Given the description of an element on the screen output the (x, y) to click on. 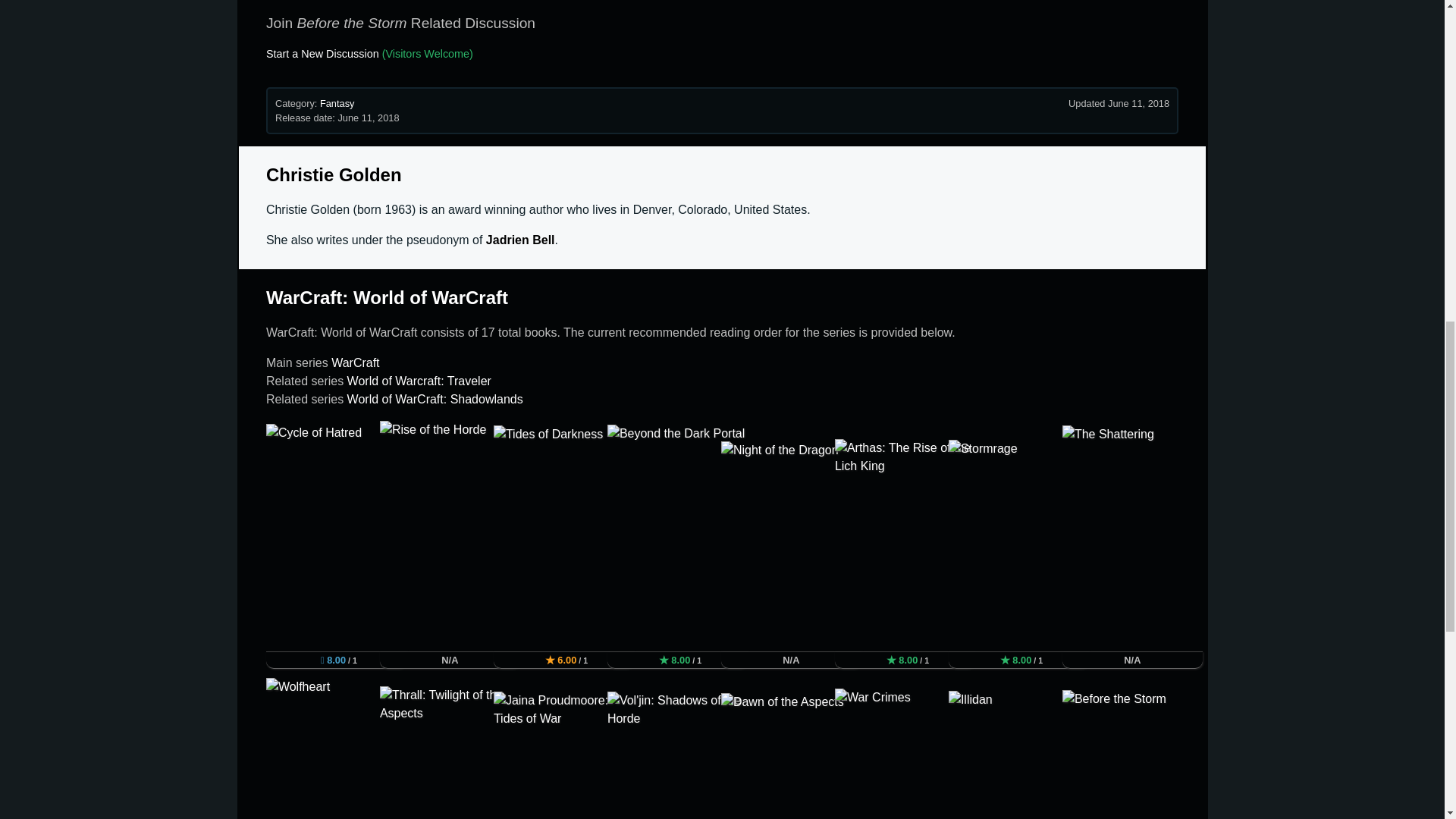
Wolfheart by Richard A. Knaak (336, 748)
WarCraft: World of WarCraft (387, 297)
Jaina Proudmoore: Tides of War by Christie Golden (563, 755)
Thrall: Twilight of the Aspects by Christie Golden (449, 752)
World of WarCraft: Shadowlands (434, 399)
World of Warcraft: Traveler (419, 380)
Fantasy (337, 102)
Christie Golden (333, 174)
WarCraft (354, 362)
Vol'jin: Shadows of the Horde by Michael A. Stackpole (677, 755)
Jadrien Bell (520, 239)
Dawn of the Aspects by Richard A. Knaak (790, 755)
